Given the description of an element on the screen output the (x, y) to click on. 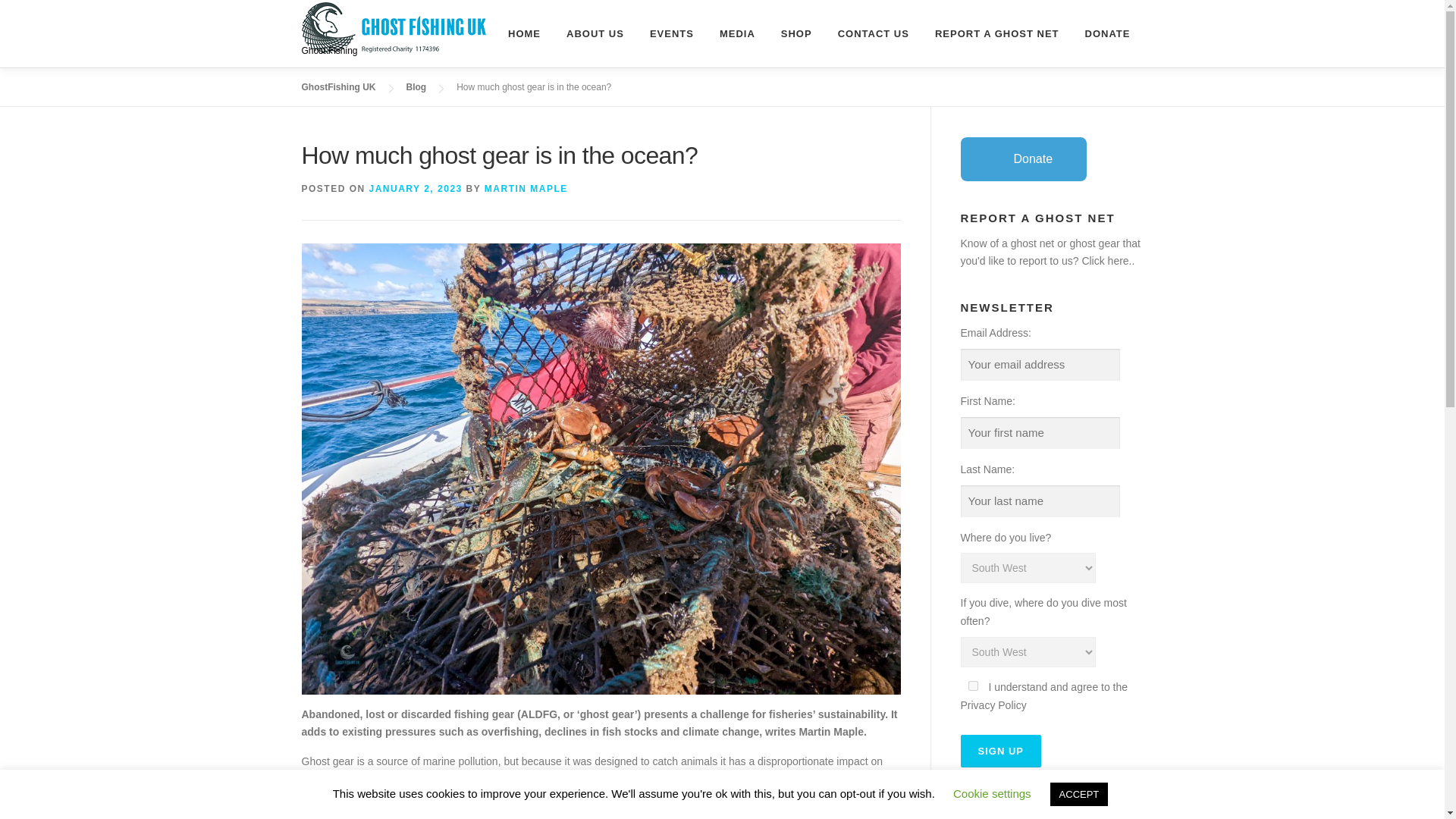
SHOP (796, 33)
Go to GhostFishing UK. (338, 86)
REPORT A GHOST NET (996, 33)
1 (972, 685)
Sign up (1000, 750)
JANUARY 2, 2023 (416, 188)
EVENTS (671, 33)
DONATE (1106, 33)
HOME (524, 33)
MEDIA (737, 33)
CONTACT US (873, 33)
Go to the Blog Category archives. (416, 86)
Blog (416, 86)
GhostFishing UK (338, 86)
ABOUT US (595, 33)
